Given the description of an element on the screen output the (x, y) to click on. 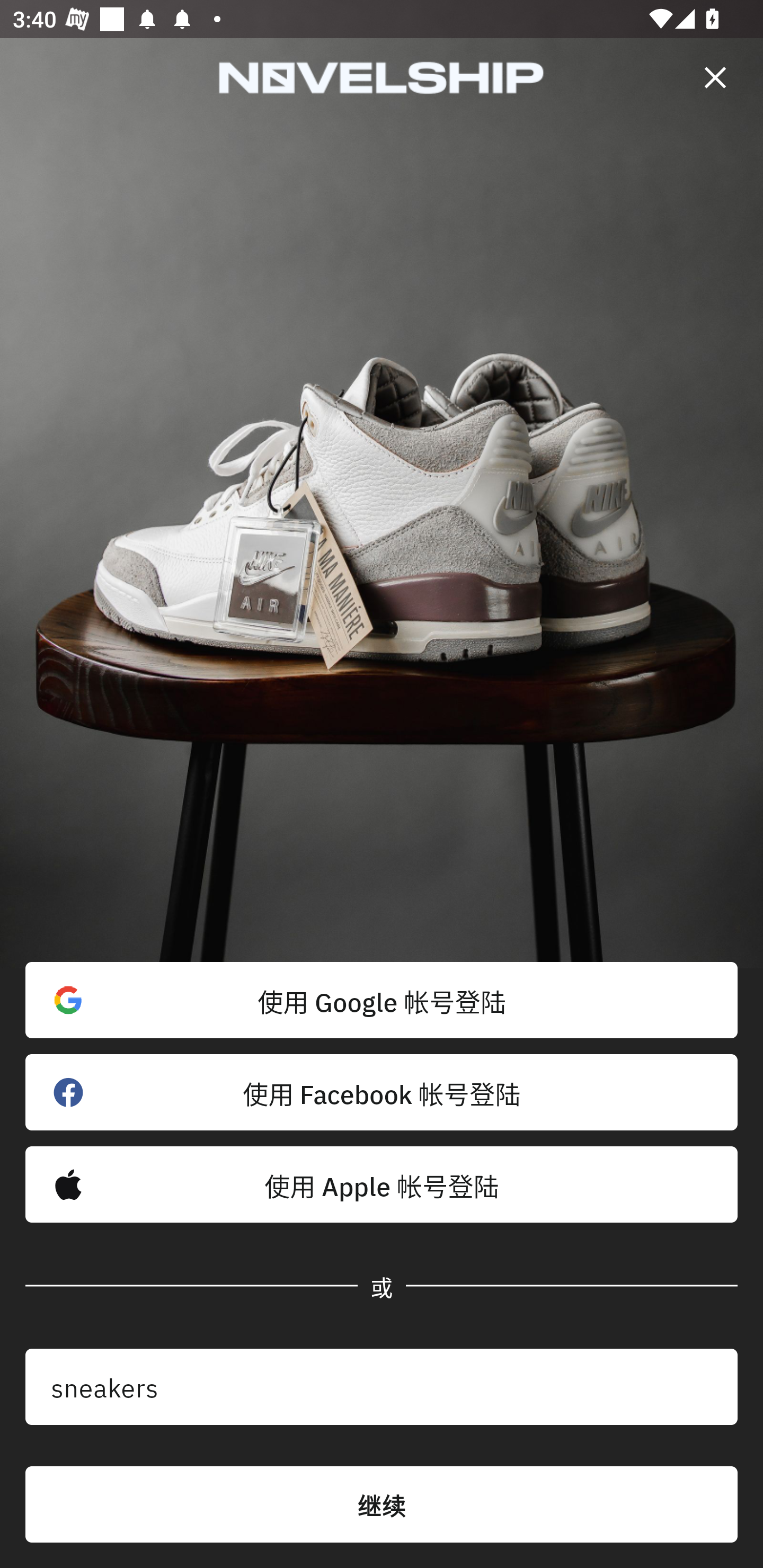
使用 Google 帐号登陆 (381, 1000)
使用 Facebook 帐号登陆 󰈌 (381, 1091)
 使用 Apple 帐号登陆 (381, 1184)
sneakers (381, 1386)
继续 (381, 1504)
